Given the description of an element on the screen output the (x, y) to click on. 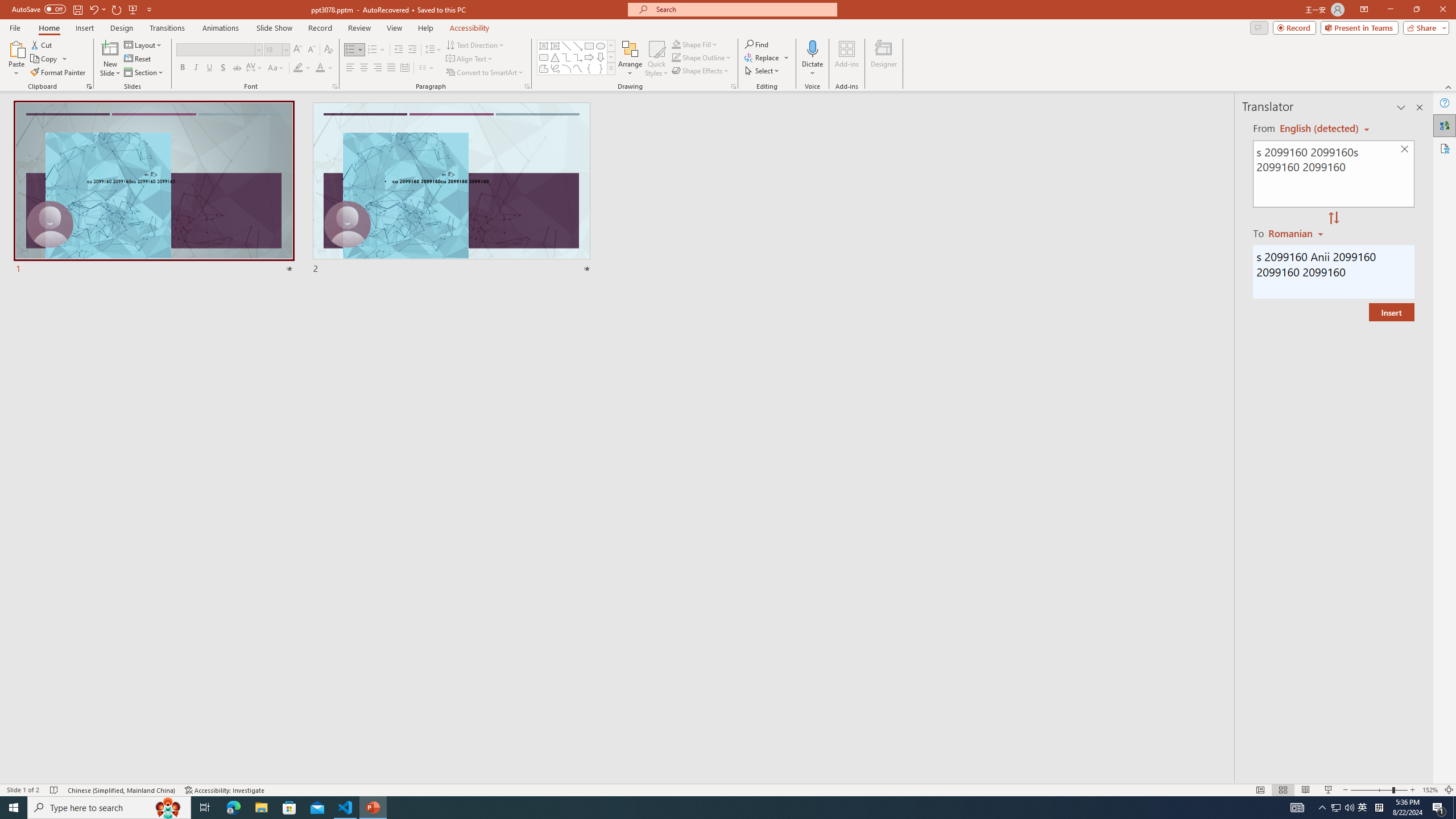
Shape Outline Green, Accent 1 (675, 56)
